Given the description of an element on the screen output the (x, y) to click on. 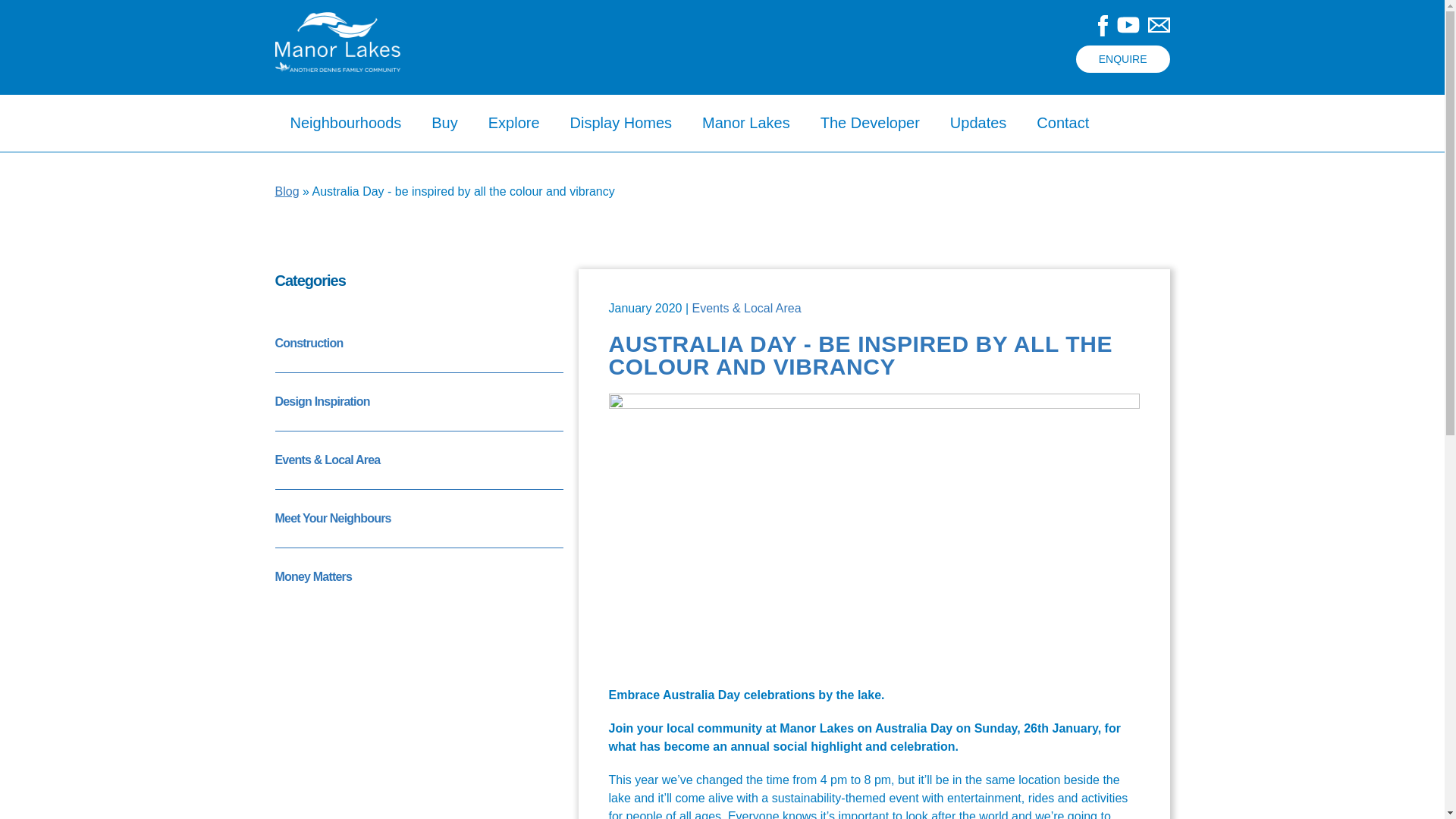
Manor Lakes (746, 123)
Buy (443, 123)
Contact (1062, 123)
ENQUIRE (1122, 58)
Skip to main content (693, 1)
The Developer (869, 123)
Updates (978, 123)
Display Homes (620, 123)
Neighbourhoods (345, 123)
Explore (513, 123)
